Given the description of an element on the screen output the (x, y) to click on. 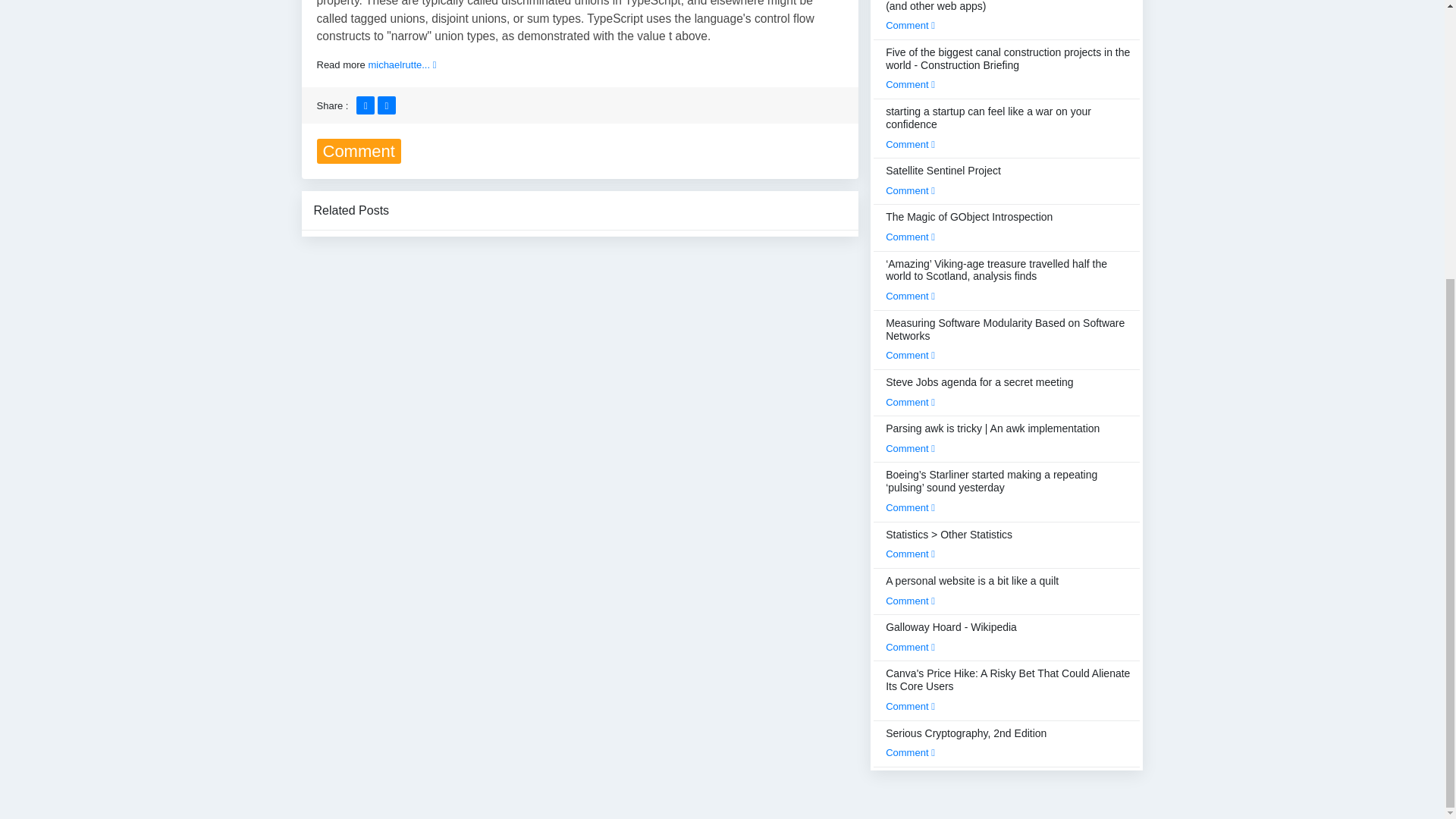
Comment (909, 143)
Comment (909, 25)
starting a startup can feel like a war on your confidence (1008, 127)
Satellite Sentinel Project (943, 180)
Comment (909, 84)
Comment (909, 190)
michaelrutte... (401, 64)
